Given the description of an element on the screen output the (x, y) to click on. 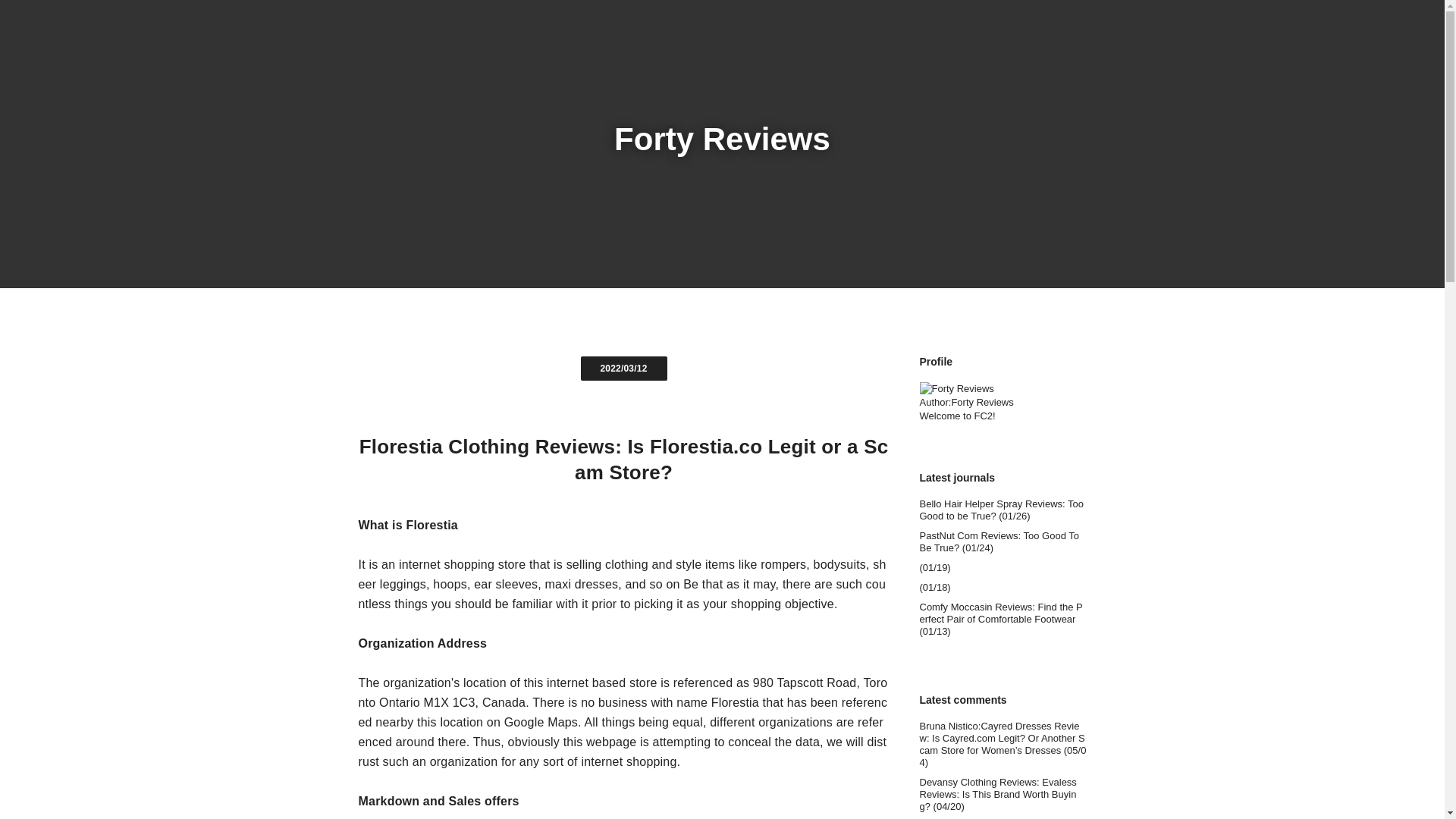
Devansy Clothing Reviews (1002, 794)
Forty Reviews (721, 139)
No title (1002, 744)
Bello Hair Helper Spray Reviews: Too Good to be True? (1002, 509)
PastNut Com Reviews: Too Good To Be True? (1002, 541)
